Given the description of an element on the screen output the (x, y) to click on. 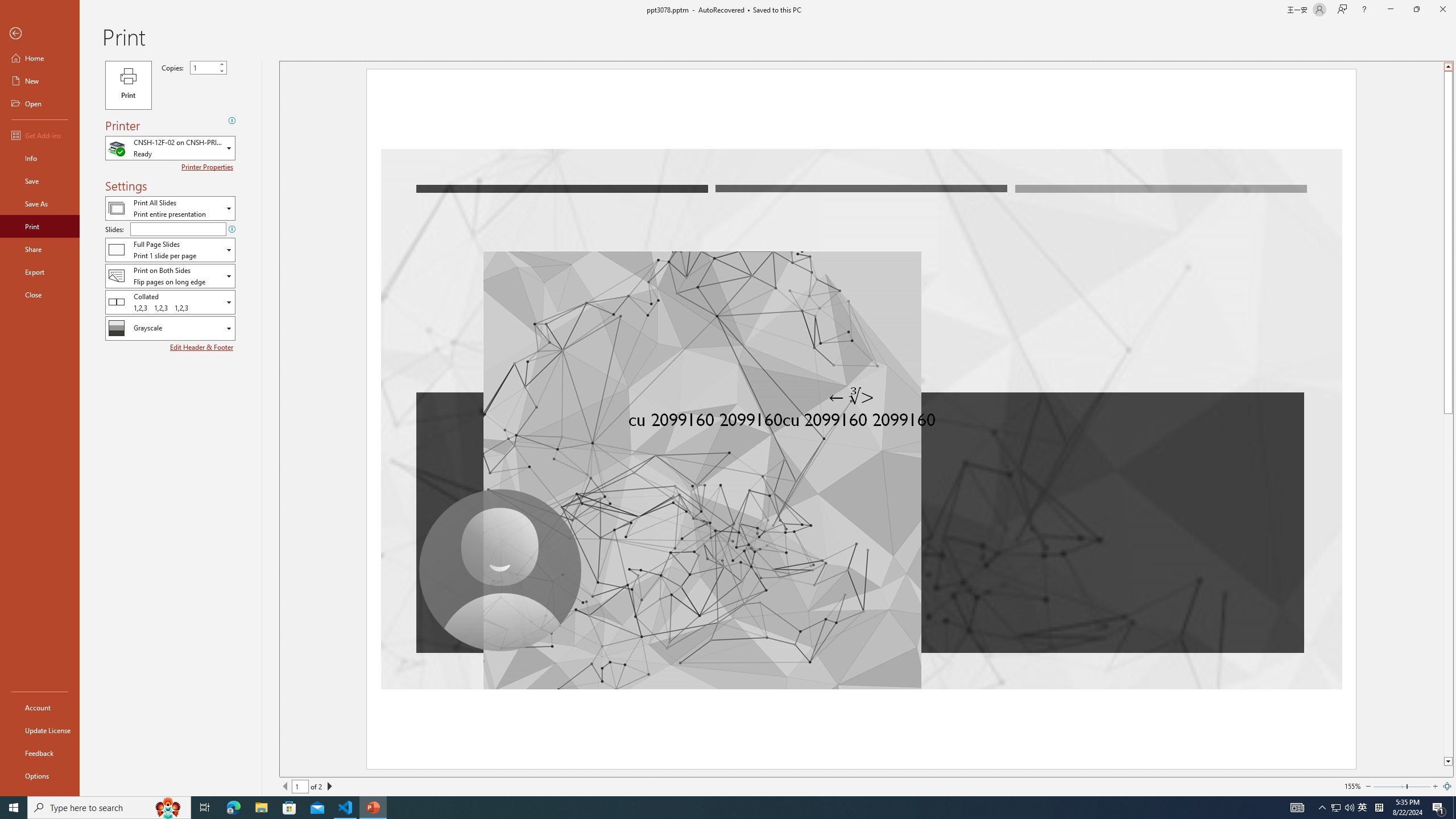
Back (40, 33)
Copies (208, 67)
New (40, 80)
Page left (1389, 786)
Previous Page (285, 786)
Copies (203, 67)
Options (40, 775)
Save As (40, 203)
Slides and Handouts (169, 249)
155% (1352, 785)
